Given the description of an element on the screen output the (x, y) to click on. 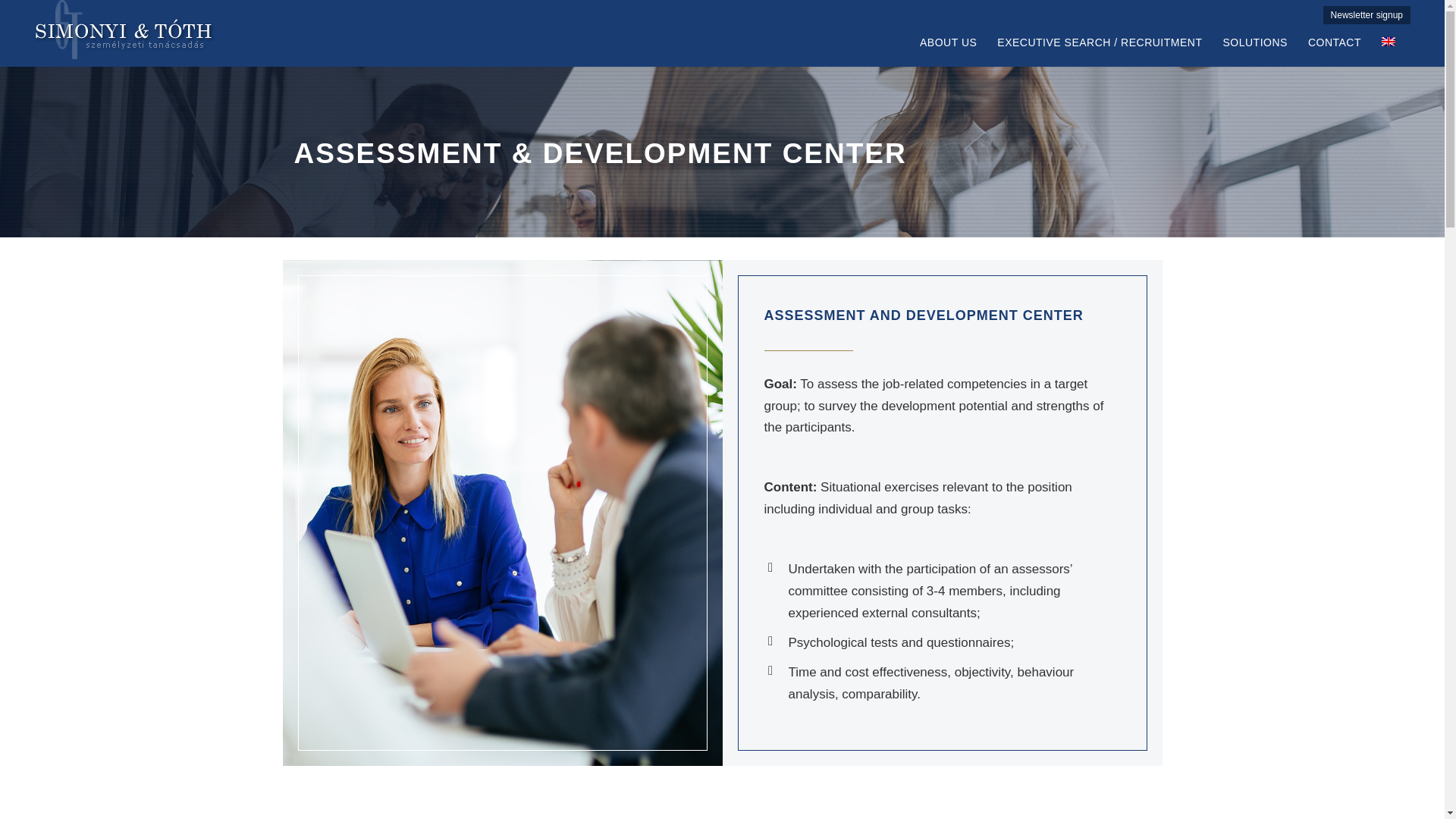
English (1387, 40)
logo (124, 29)
ABOUT US (948, 48)
CONTACT (1334, 48)
Newsletter signup (1366, 14)
SOLUTIONS (1255, 48)
